Given the description of an element on the screen output the (x, y) to click on. 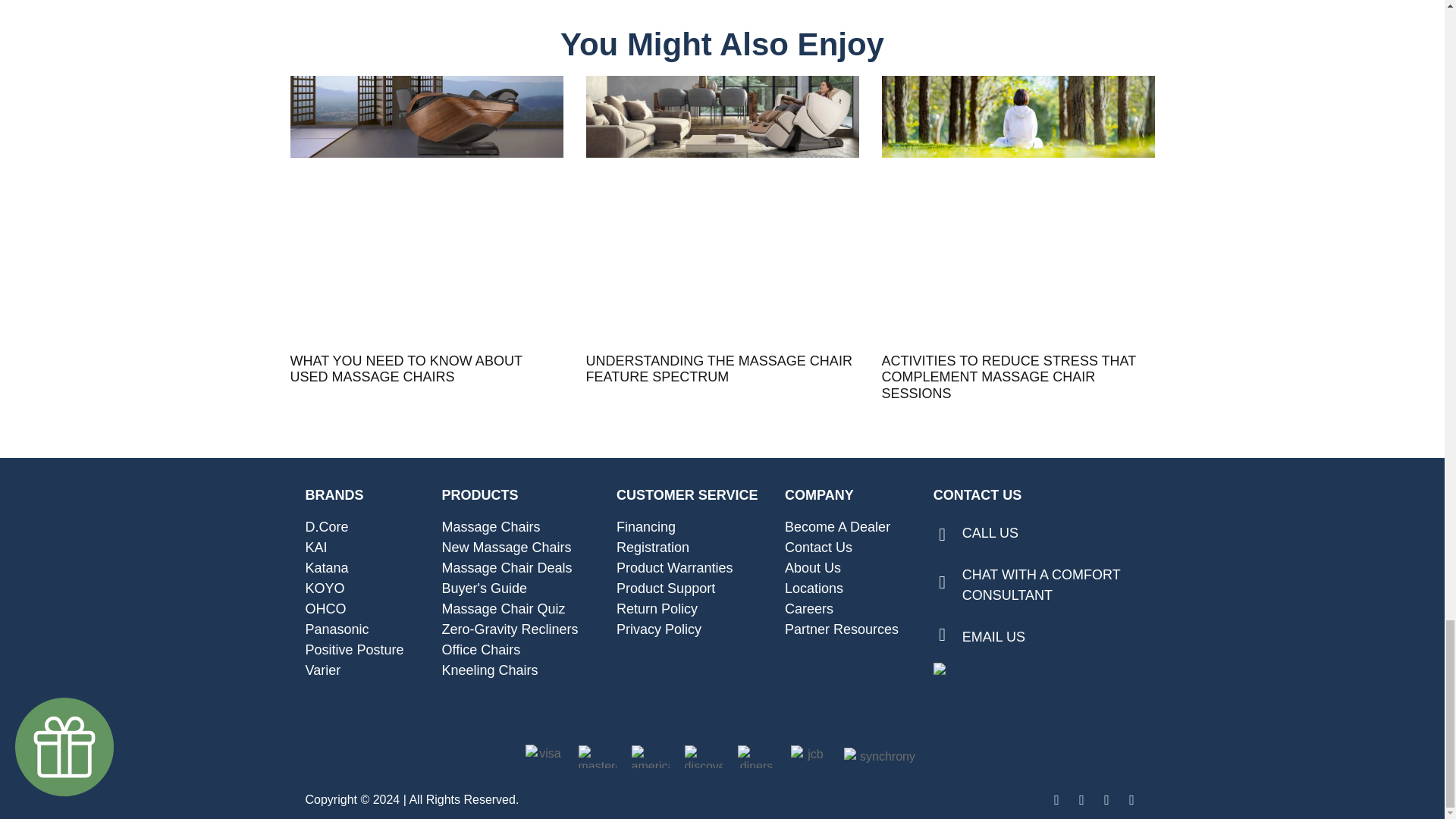
visa2 (543, 756)
mastercard3 (596, 756)
diners2 (755, 756)
jcb2 (809, 756)
discover2 (703, 756)
synchrony-financial-150 (880, 756)
amex2 (649, 756)
